Given the description of an element on the screen output the (x, y) to click on. 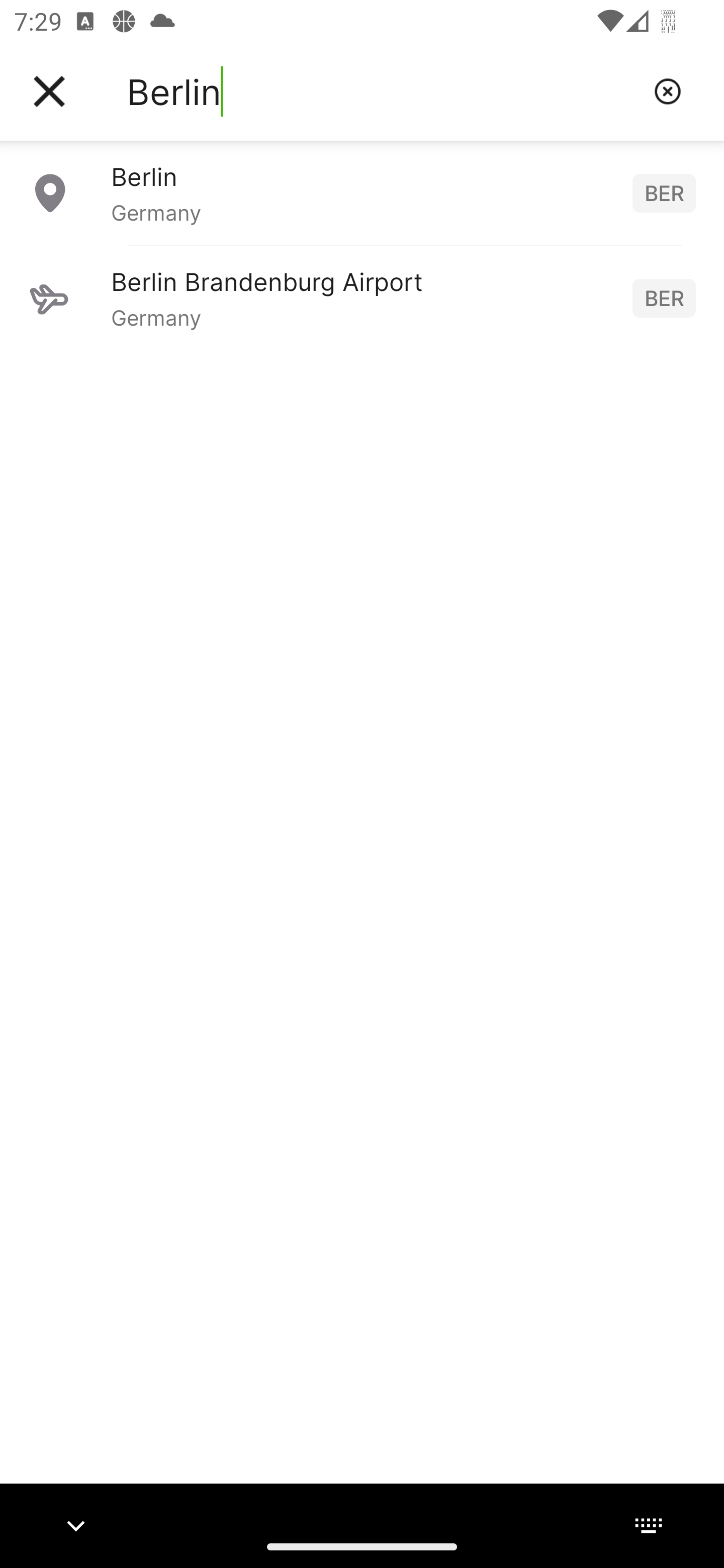
Berlin (382, 91)
Berlin Germany BER (362, 192)
Berlin Brandenburg Airport Germany BER (362, 297)
